Given the description of an element on the screen output the (x, y) to click on. 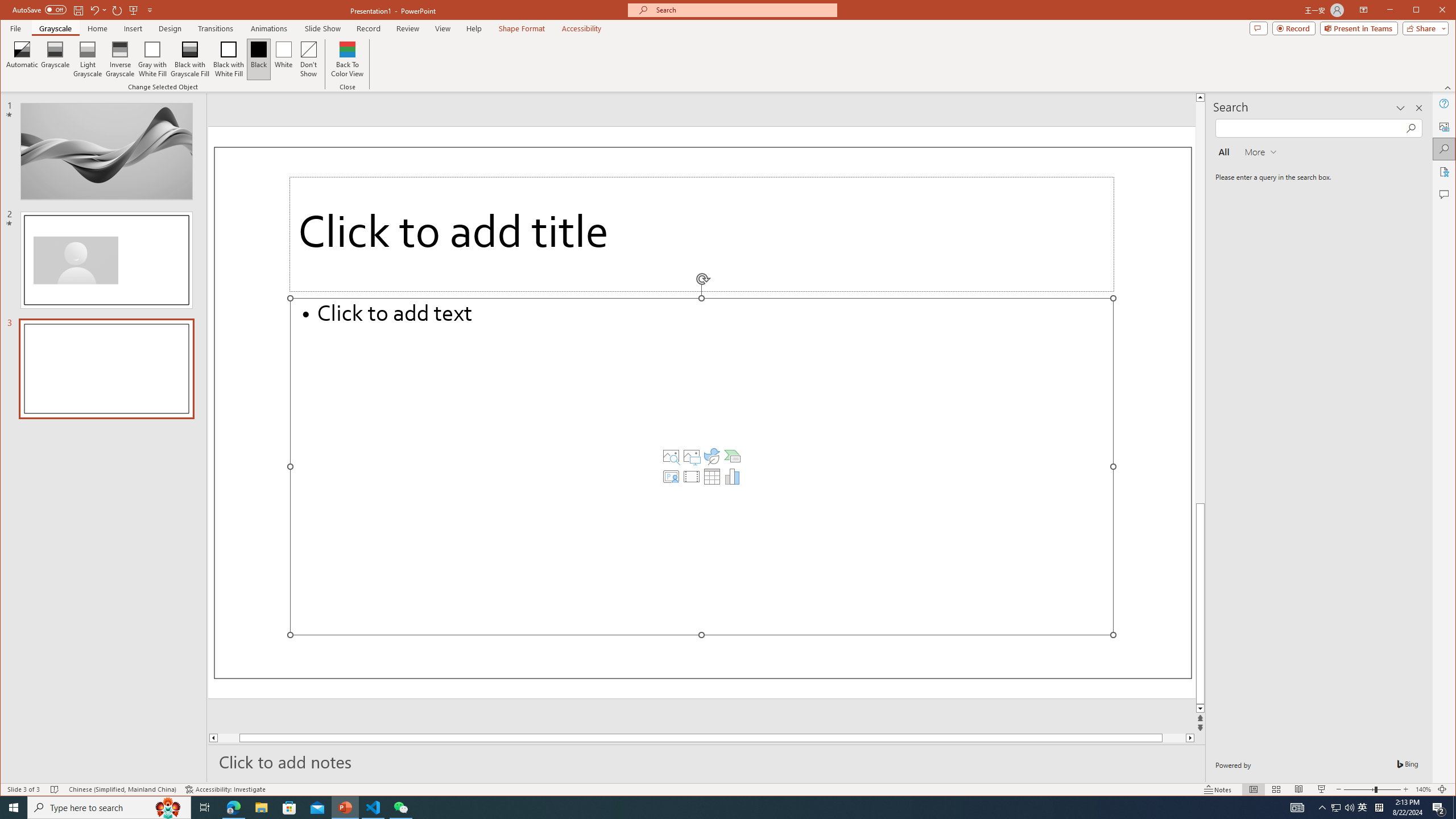
Pictures (691, 456)
Back To Color View (347, 59)
White (283, 59)
Grayscale (55, 28)
Don't Show (308, 59)
